Given the description of an element on the screen output the (x, y) to click on. 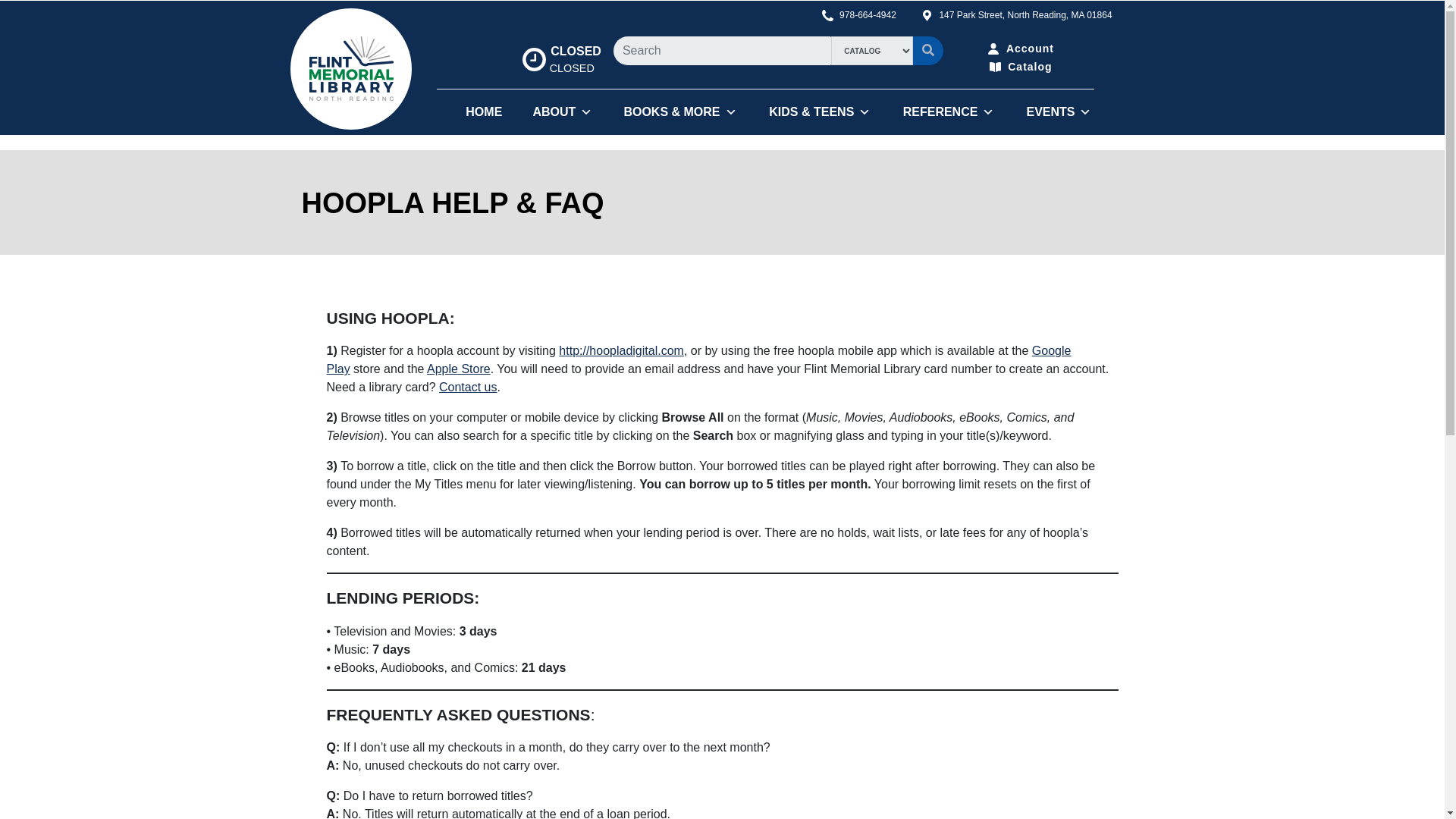
HOME (482, 112)
SEARCH (927, 50)
Closed (575, 51)
Catalog (1020, 61)
147 Park Street, North Reading, MA 01864 (1035, 14)
Account (1020, 45)
ABOUT (560, 59)
978-664-4942 (560, 112)
